Given the description of an element on the screen output the (x, y) to click on. 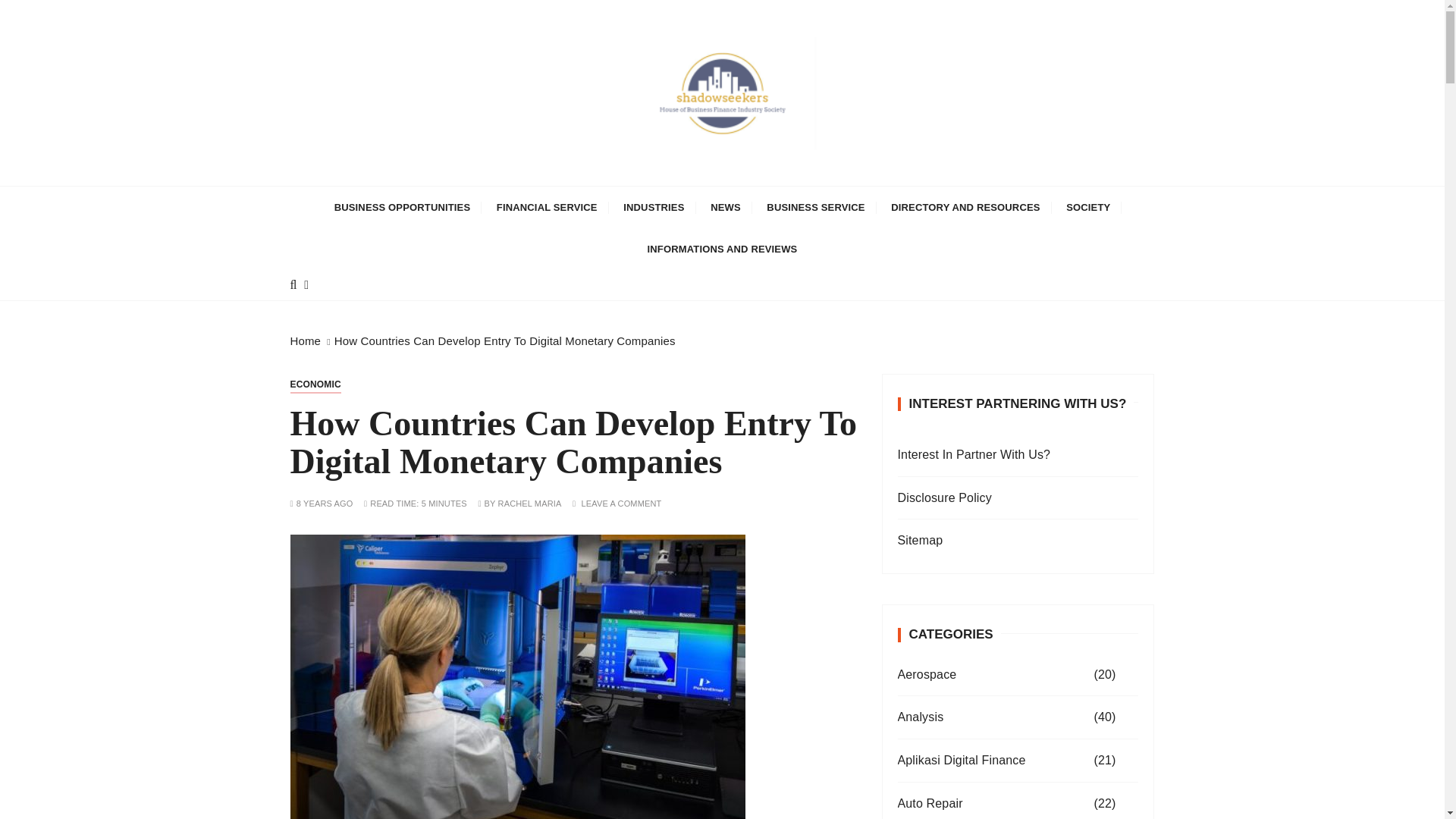
shadow seekers (419, 195)
FINANCIAL SERVICE (546, 207)
BUSINESS OPPORTUNITIES (402, 207)
BUSINESS SERVICE (815, 207)
INDUSTRIES (653, 207)
NEWS (725, 207)
